Given the description of an element on the screen output the (x, y) to click on. 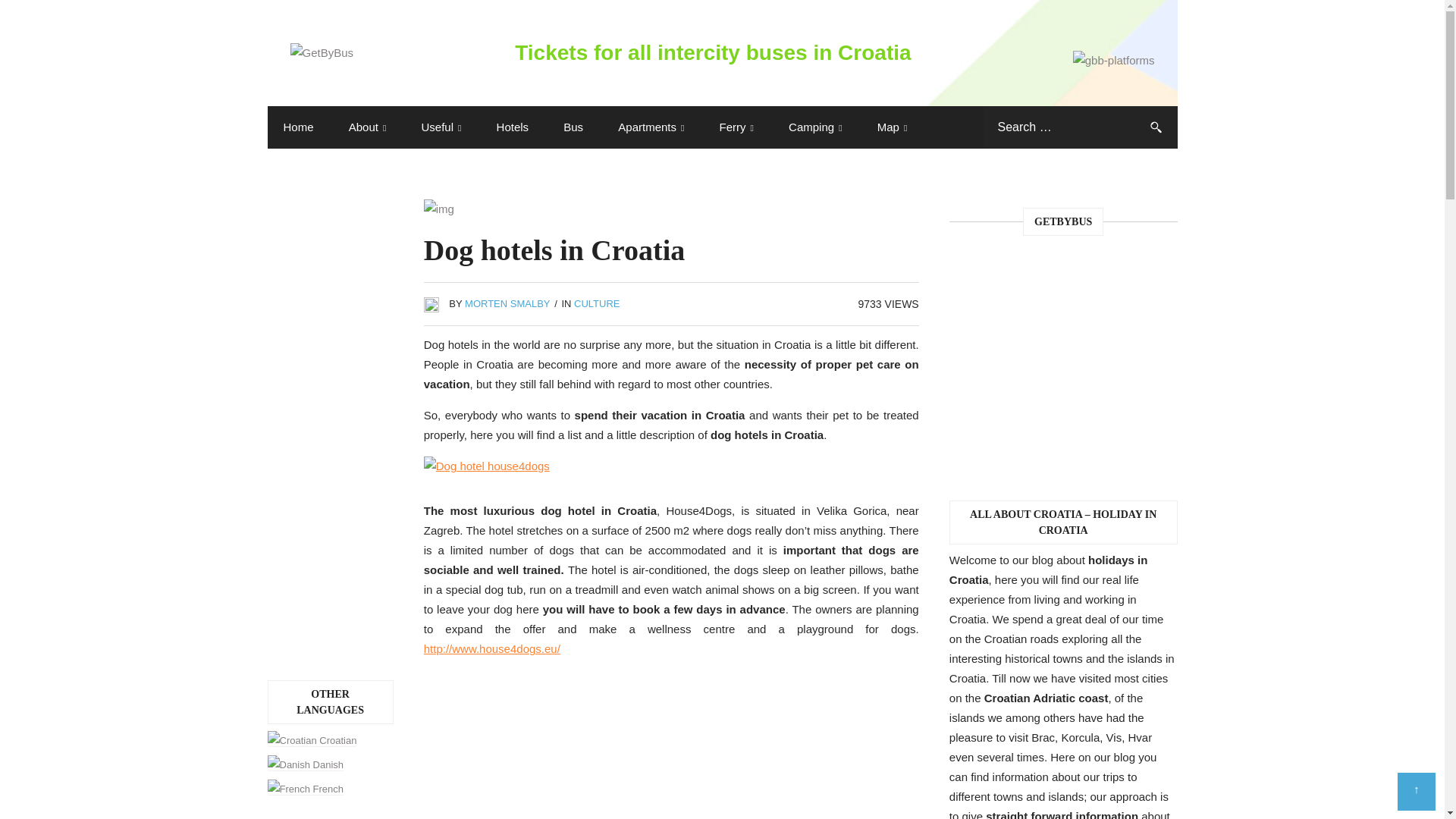
Useful (440, 127)
Map (892, 127)
Ferry Croatia (736, 127)
Apartments Croatia (651, 127)
Apartments (651, 127)
Home (297, 127)
Hotels Croatia (512, 127)
About us (368, 127)
Useful Stuff (440, 127)
Bus Croatia (572, 127)
Camping Croatia (815, 127)
Camping (815, 127)
Tickets for all intercity buses in Croatia (721, 53)
Dog hotel house4dogs (486, 465)
Ferry (736, 127)
